Given the description of an element on the screen output the (x, y) to click on. 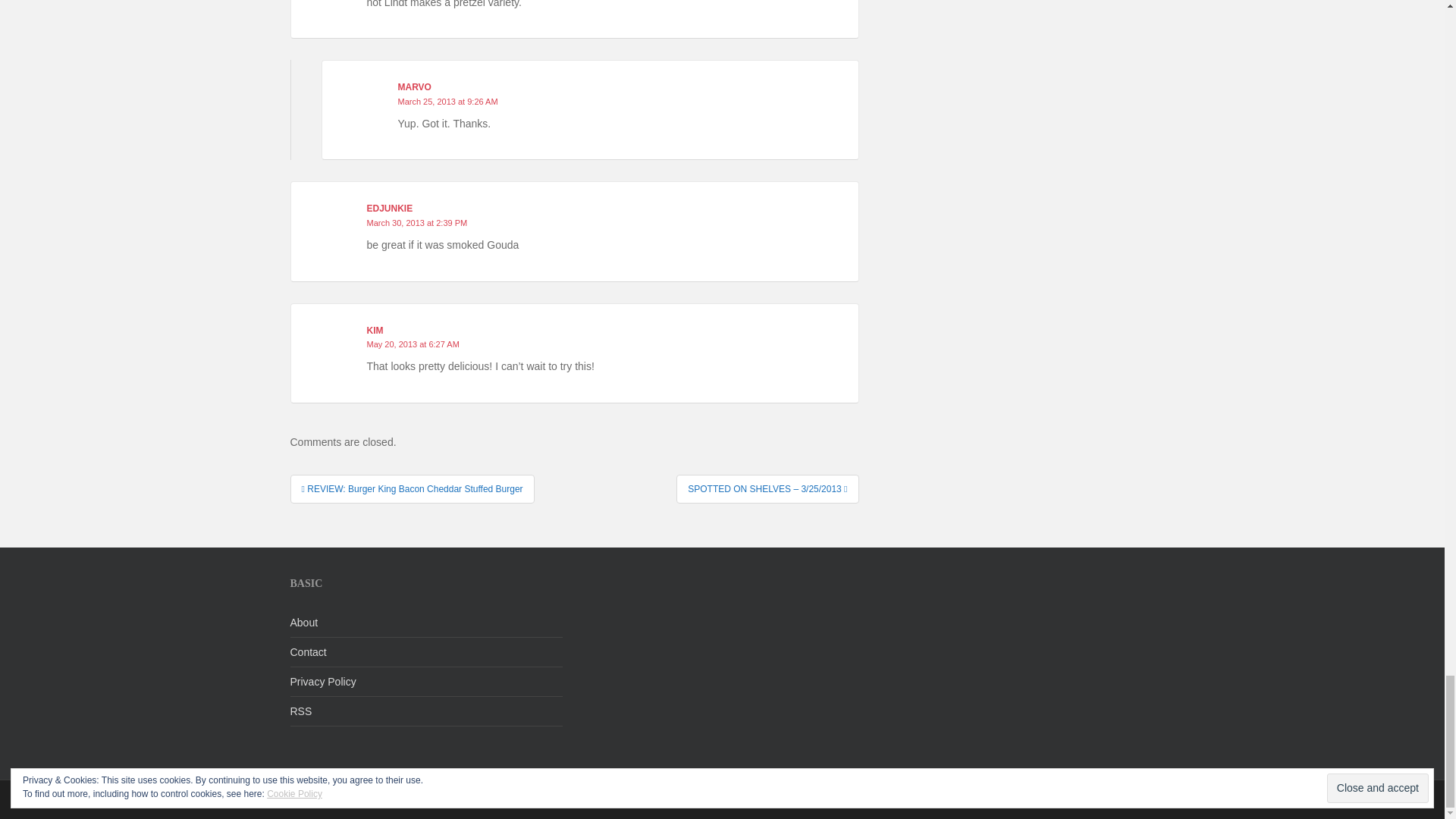
EDJUNKIE (389, 208)
March 25, 2013 at 9:26 AM (447, 101)
May 20, 2013 at 6:27 AM (413, 343)
MARVO (413, 86)
March 30, 2013 at 2:39 PM (416, 222)
KIM (375, 330)
